Given the description of an element on the screen output the (x, y) to click on. 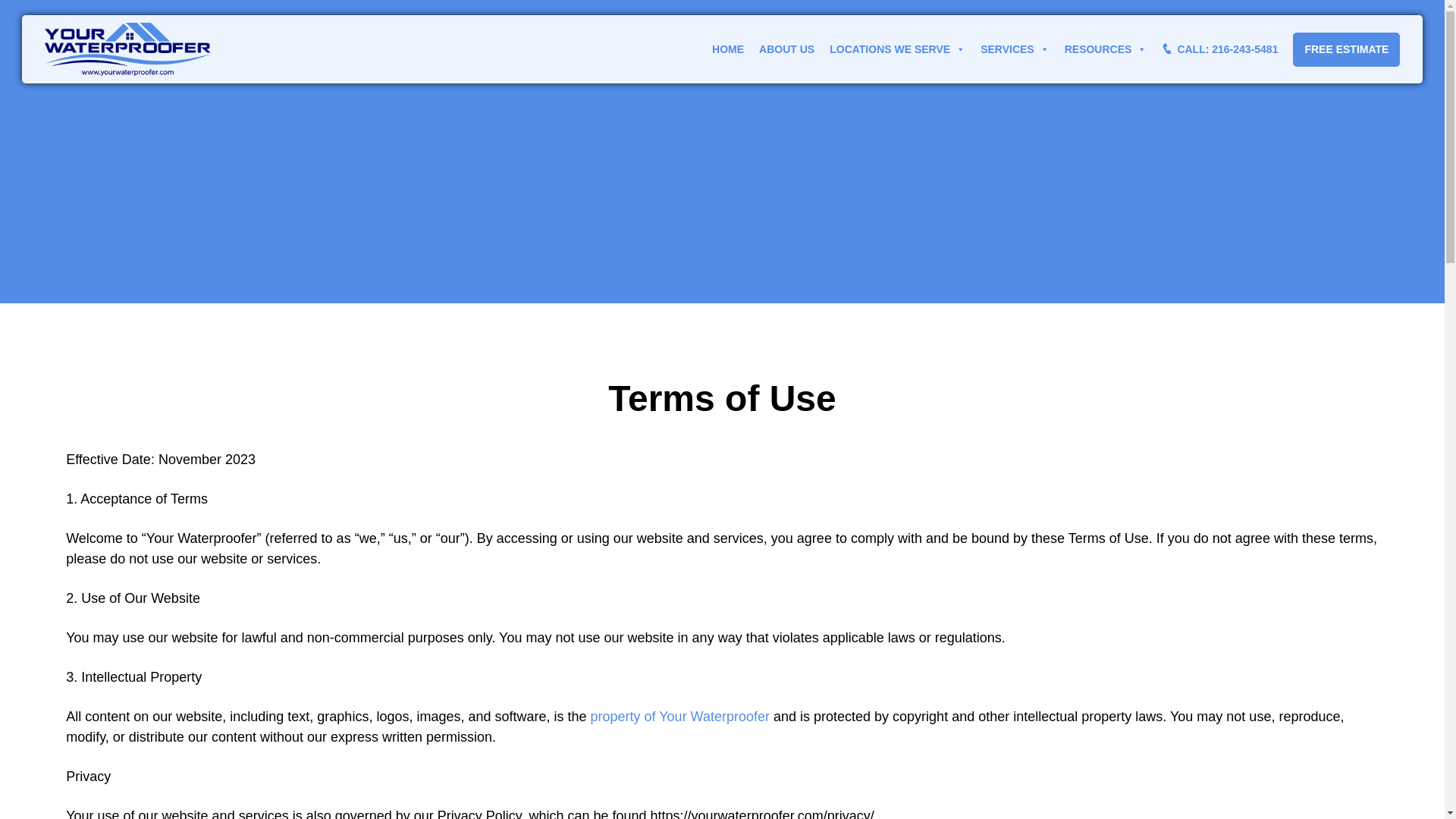
property of Your Waterproofer (680, 716)
CALL: 216-243-5481 (1219, 49)
FREE ESTIMATE (1345, 48)
SERVICES (1014, 49)
RESOURCES (1105, 49)
LOCATIONS WE SERVE (897, 49)
